Given the description of an element on the screen output the (x, y) to click on. 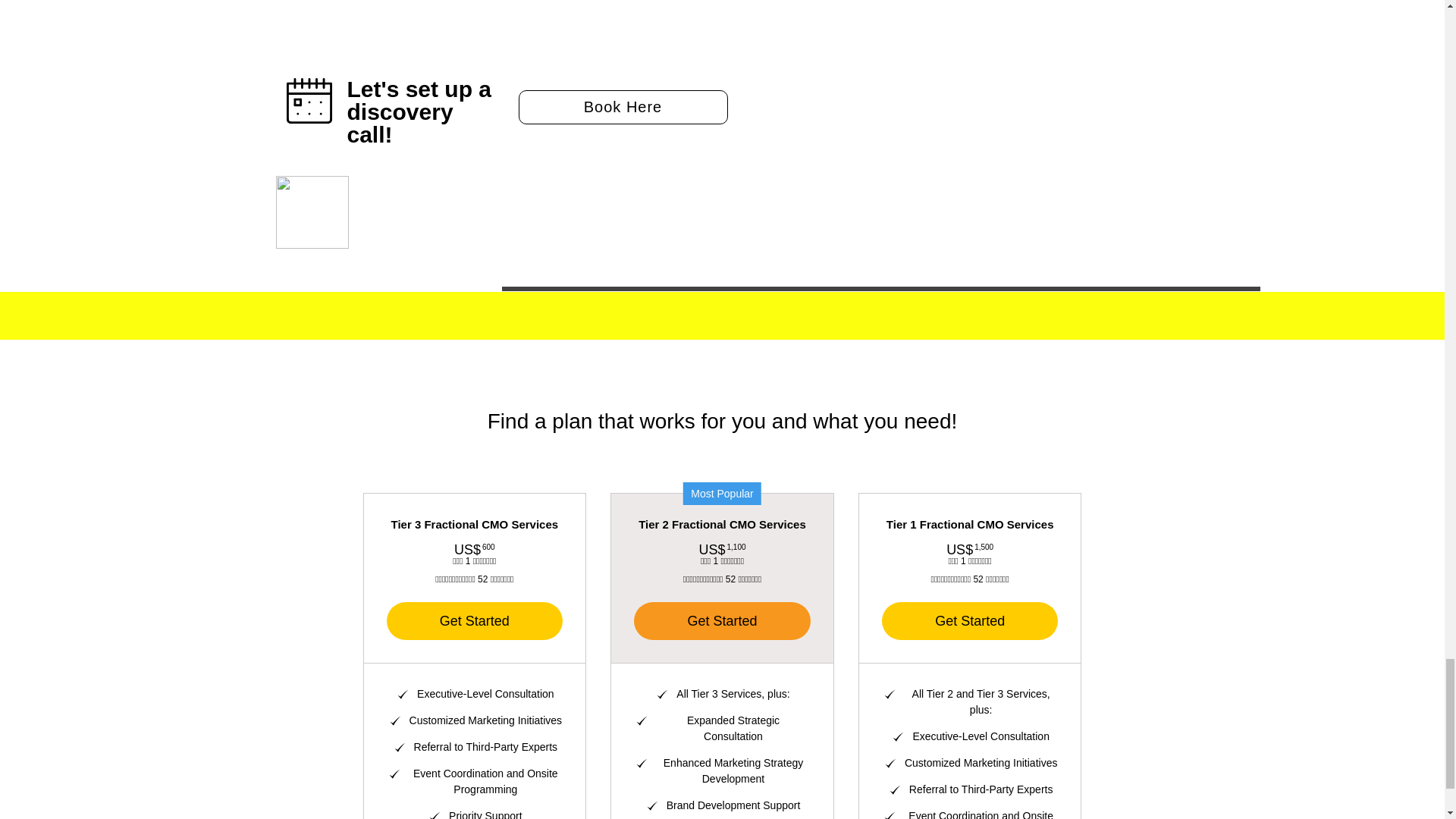
Get Started (475, 620)
Get Started (970, 620)
Book Here (623, 107)
Get Started (721, 620)
